Given the description of an element on the screen output the (x, y) to click on. 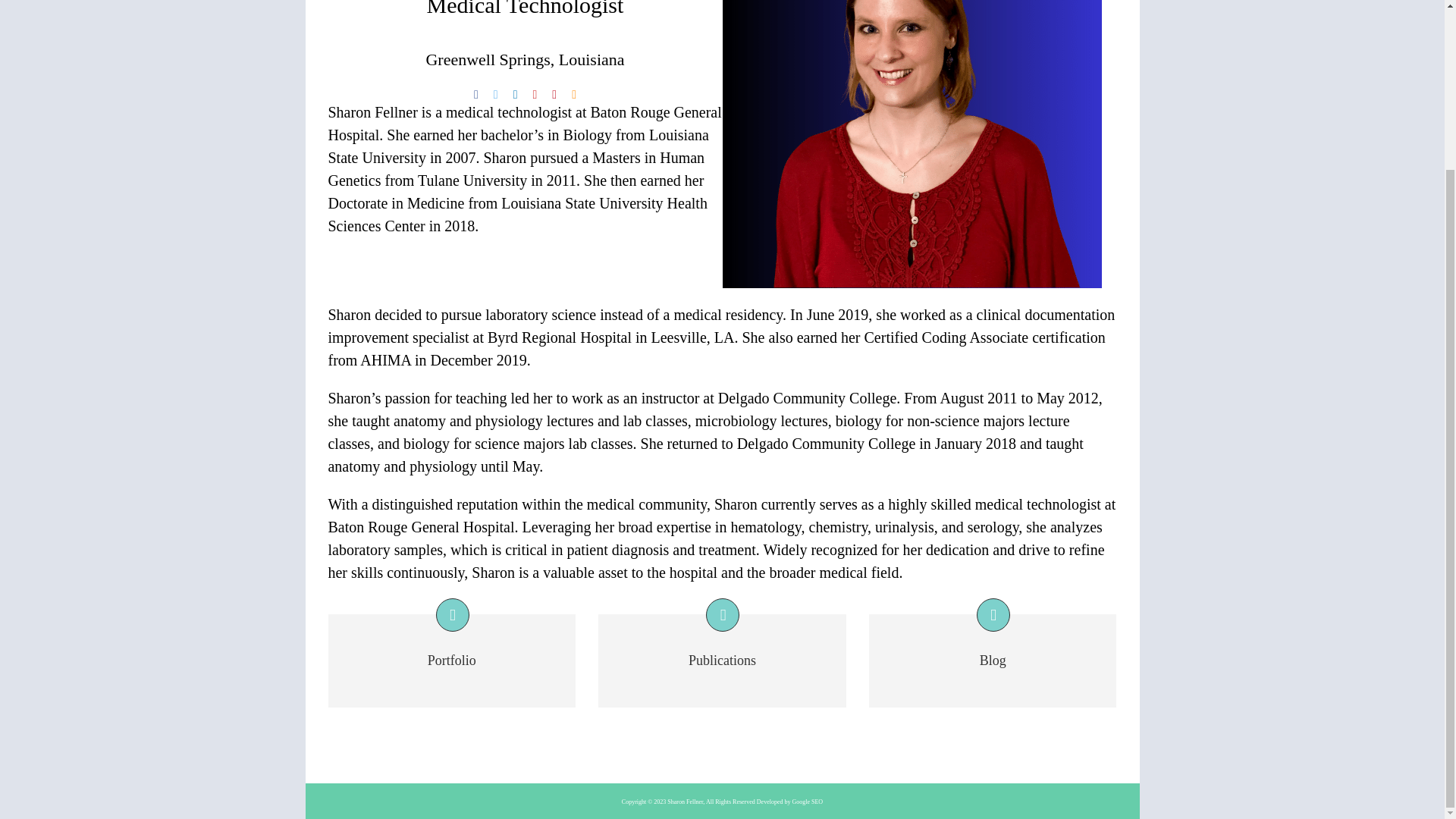
Sharon Fellner (911, 144)
reputation  (489, 504)
Blog (992, 660)
Portfolio (452, 660)
Google SEO (807, 801)
Publications (721, 698)
